Given the description of an element on the screen output the (x, y) to click on. 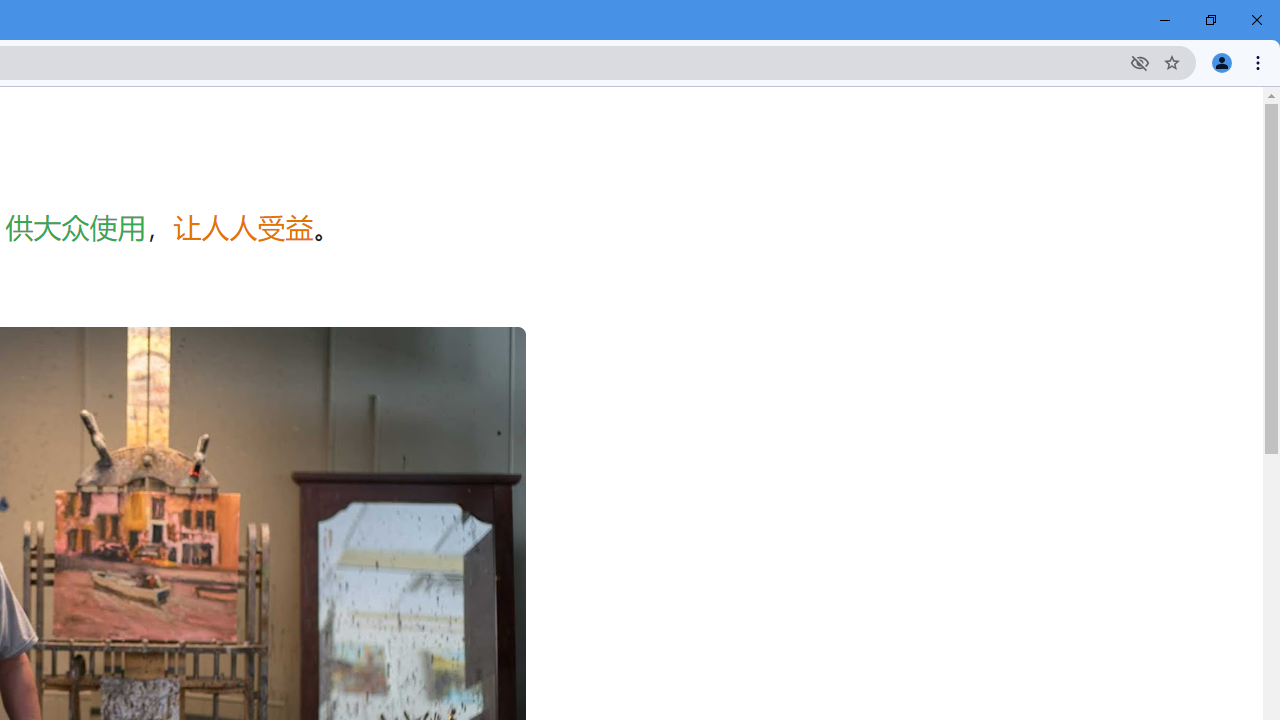
Third-party cookies blocked (1139, 62)
